Given the description of an element on the screen output the (x, y) to click on. 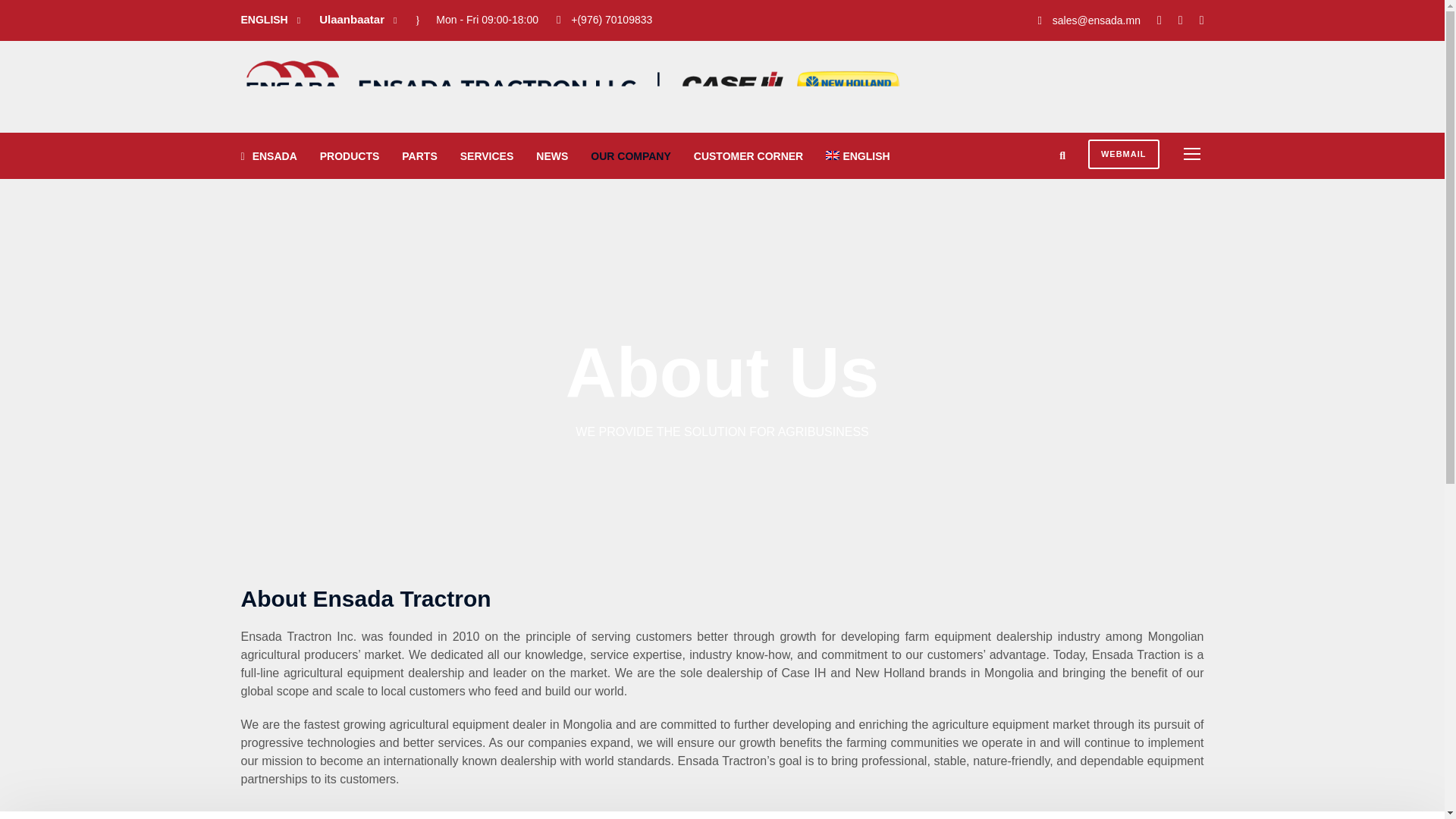
PRODUCTS (350, 163)
ENGLISH (857, 163)
ENSADA (269, 163)
